Given the description of an element on the screen output the (x, y) to click on. 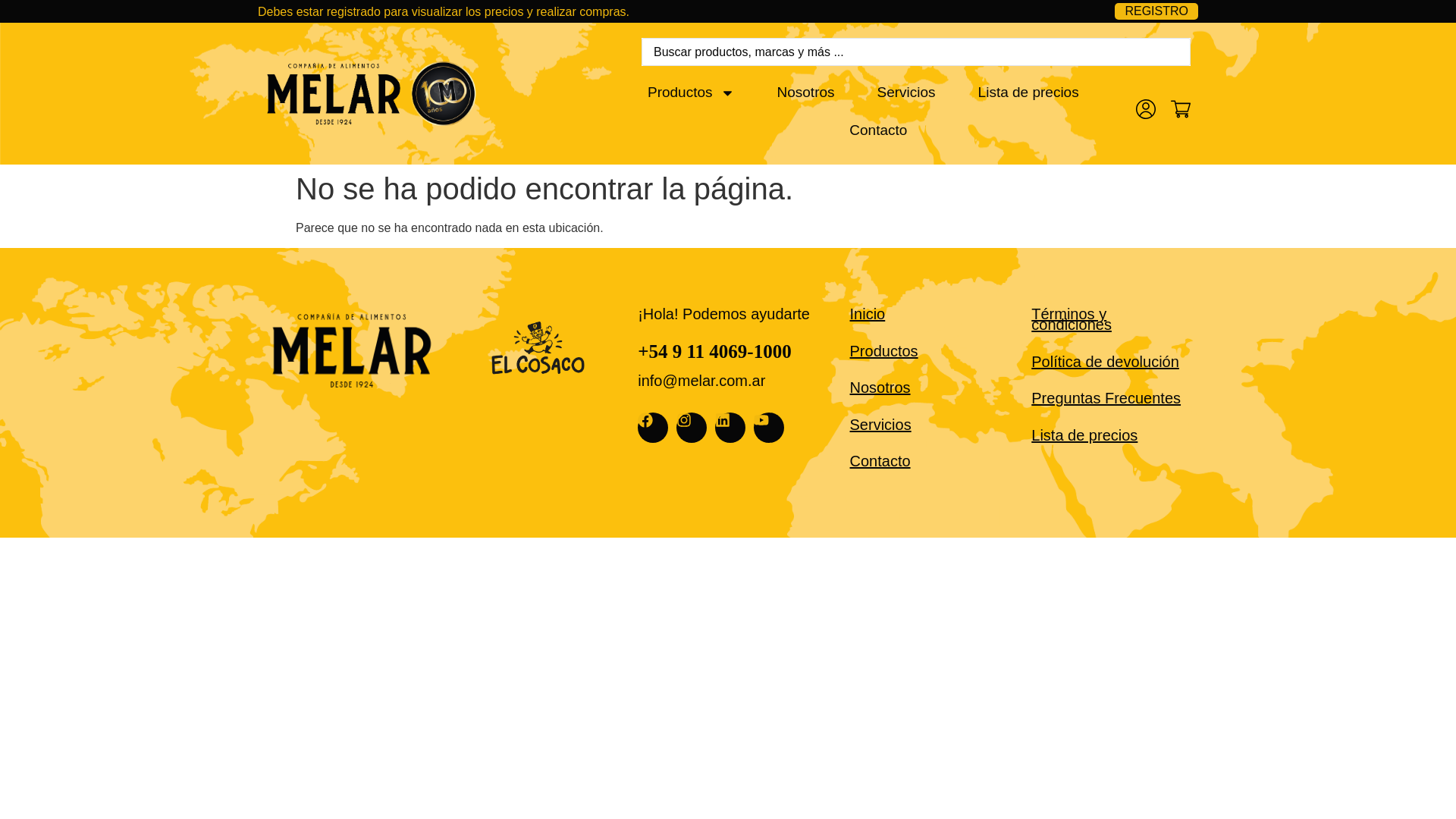
REGISTRO (1156, 11)
Lista de precios (1028, 92)
Servicios (906, 92)
Productos (691, 92)
Contacto (878, 130)
Nosotros (806, 92)
